Given the description of an element on the screen output the (x, y) to click on. 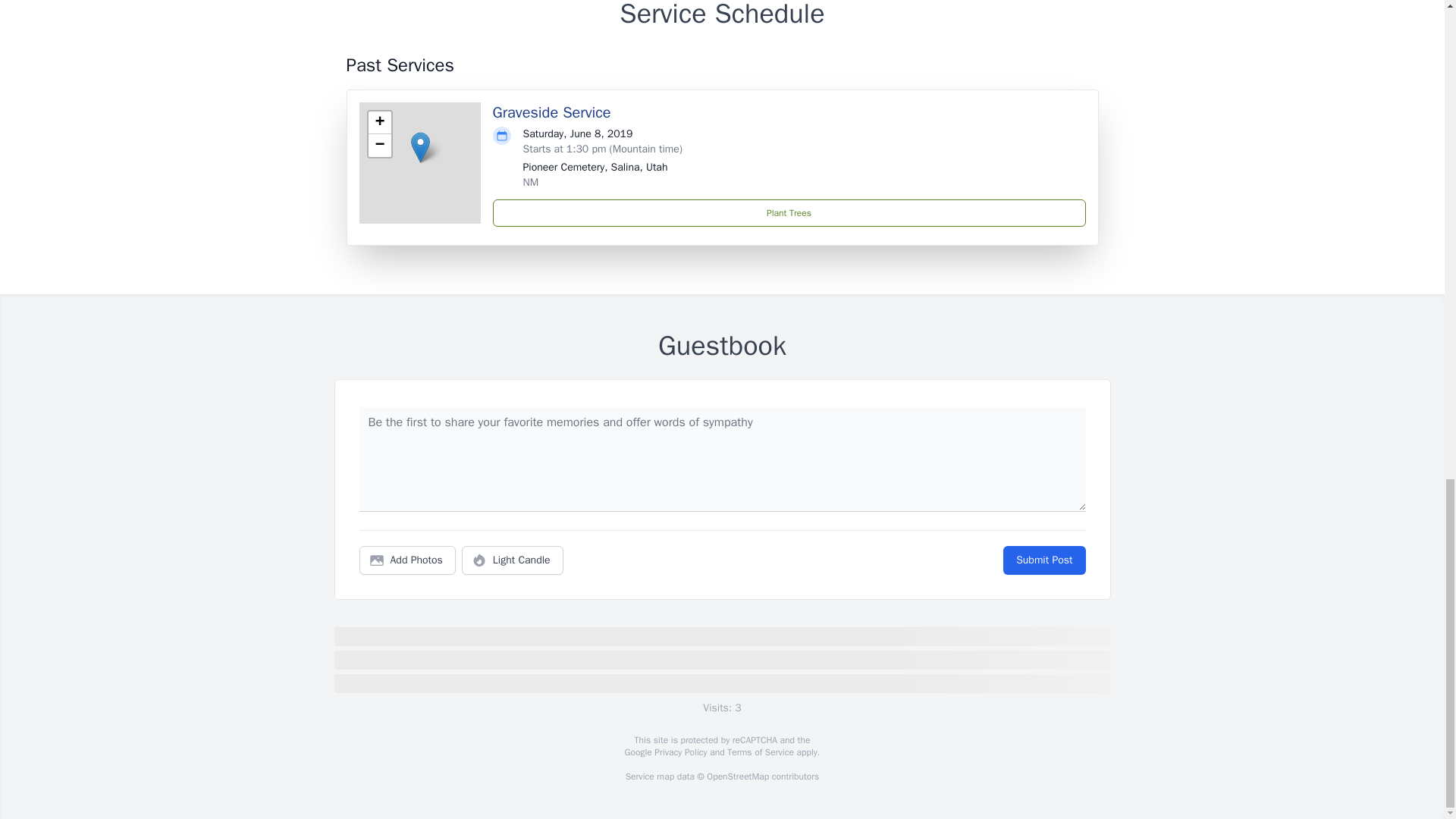
Zoom out (379, 145)
Light Candle (512, 560)
Plant Trees (789, 212)
Submit Post (1043, 560)
NM (530, 182)
Terms of Service (759, 752)
Add Photos (407, 560)
Privacy Policy (679, 752)
OpenStreetMap (737, 776)
Zoom in (379, 122)
